Given the description of an element on the screen output the (x, y) to click on. 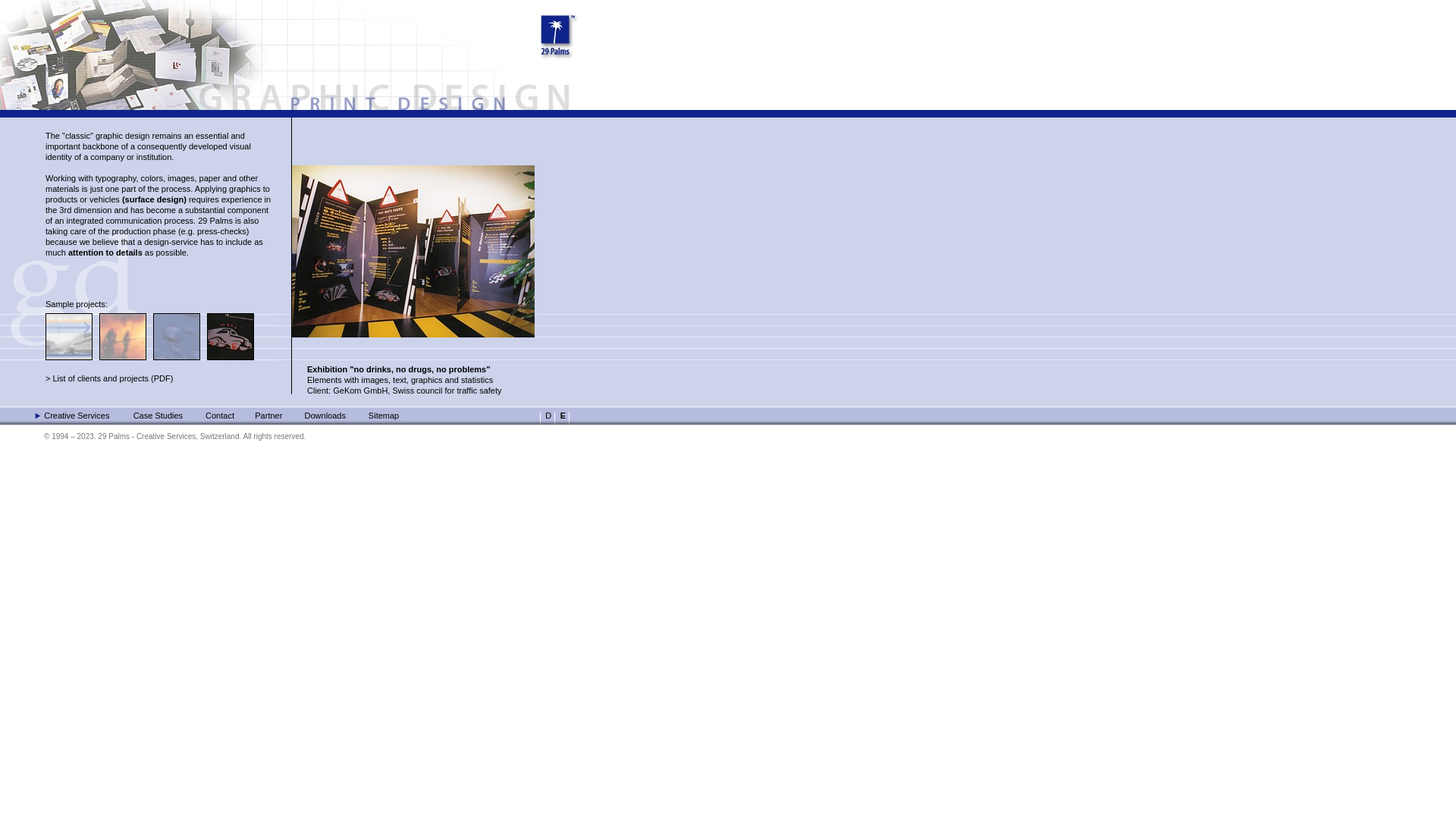
Partner Element type: text (268, 415)
Downloads Element type: text (324, 415)
 E Element type: text (561, 415)
Contact Element type: text (219, 415)
 D Element type: text (546, 415)
Sitemap Element type: text (383, 415)
Creative Services Element type: text (76, 415)
Case Studies Element type: text (157, 415)
> List of clients and projects (PDF) Element type: text (108, 377)
